Given the description of an element on the screen output the (x, y) to click on. 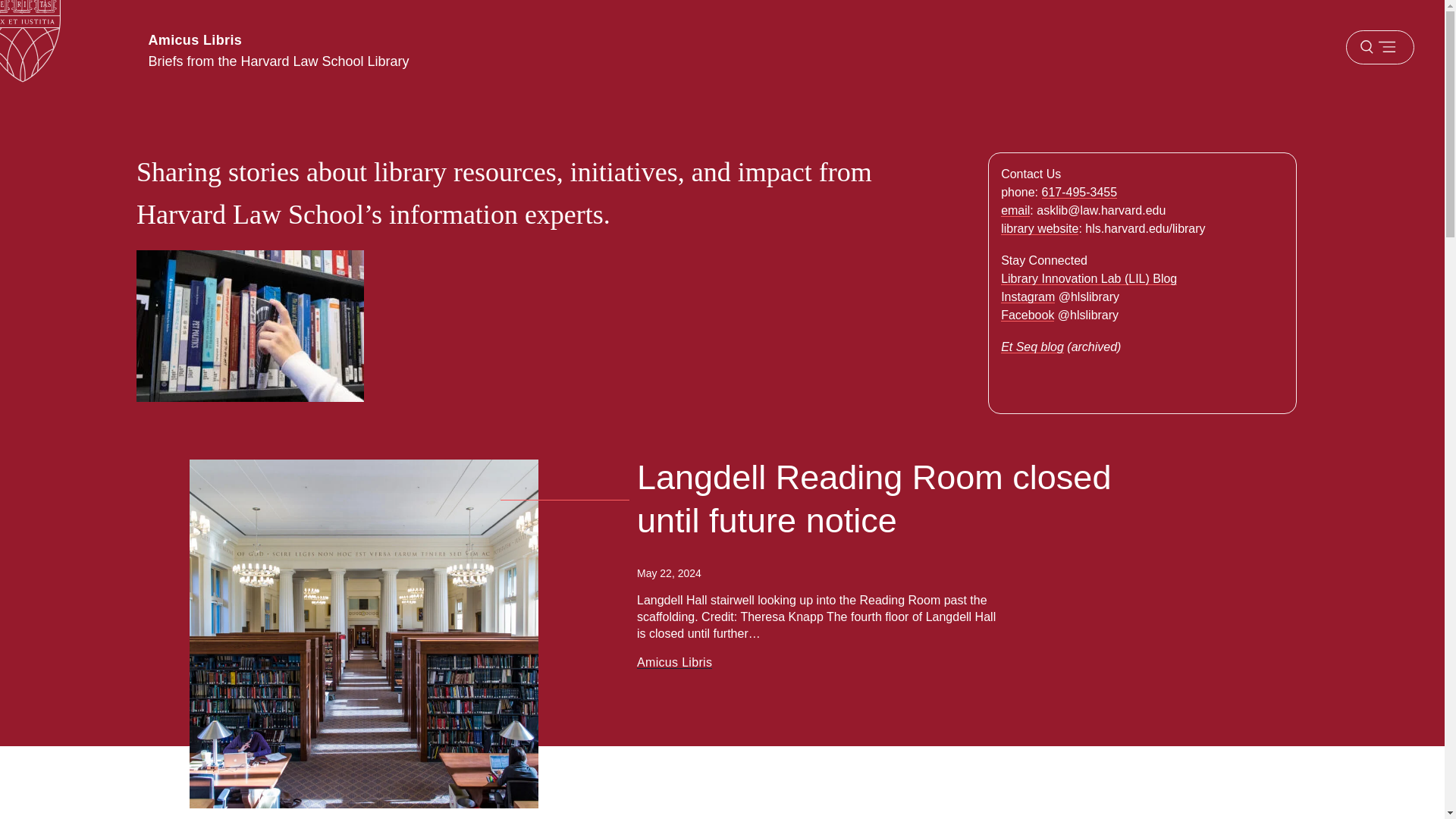
Open menu (1379, 47)
